Given the description of an element on the screen output the (x, y) to click on. 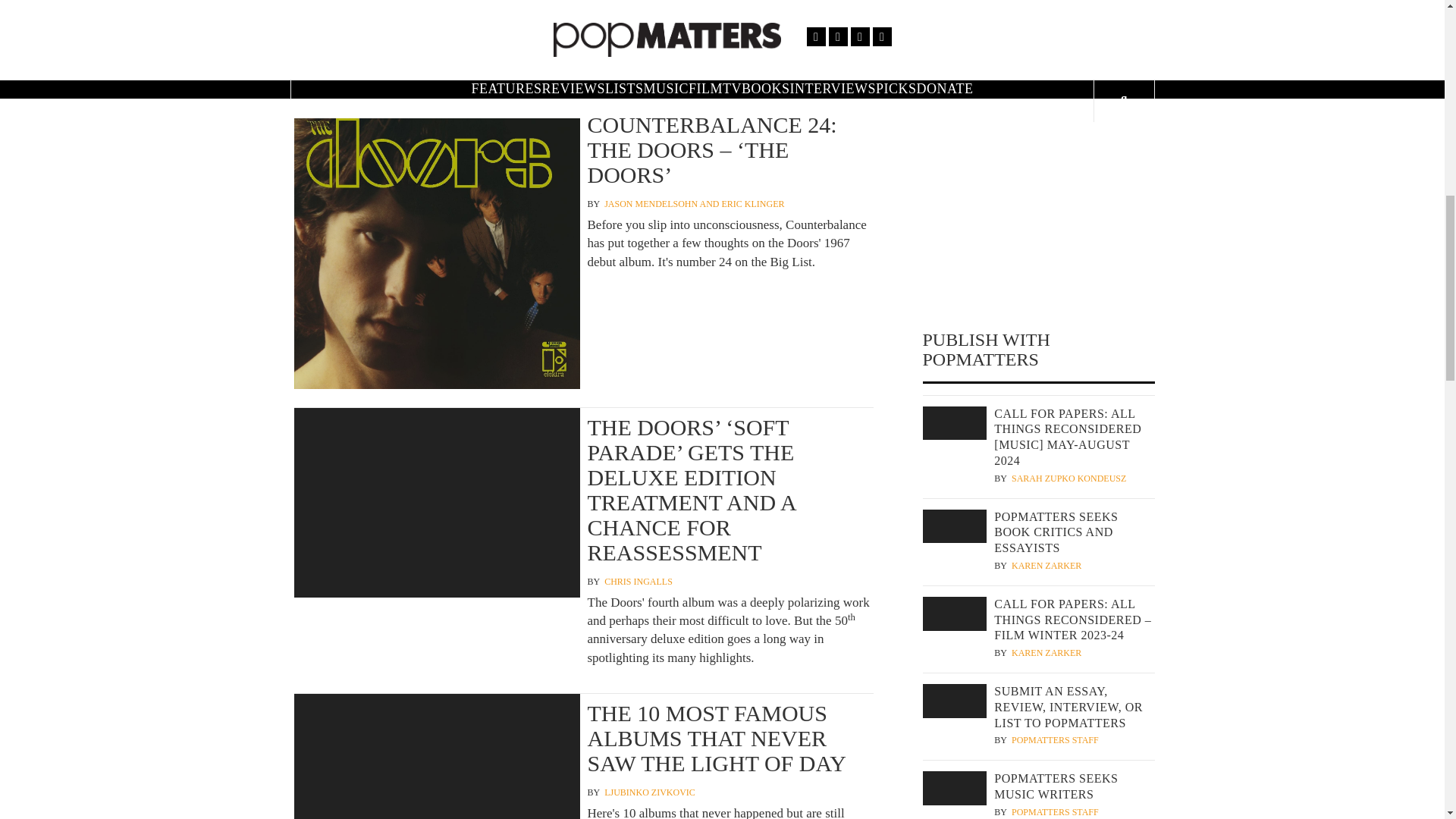
Jason Mendelsohn and Eric Klinger (694, 204)
Ljubinko Zivkovic (649, 792)
Hank Kennedy (1047, 94)
Chris Ingalls (638, 581)
Evan Sawdey (1043, 7)
